Given the description of an element on the screen output the (x, y) to click on. 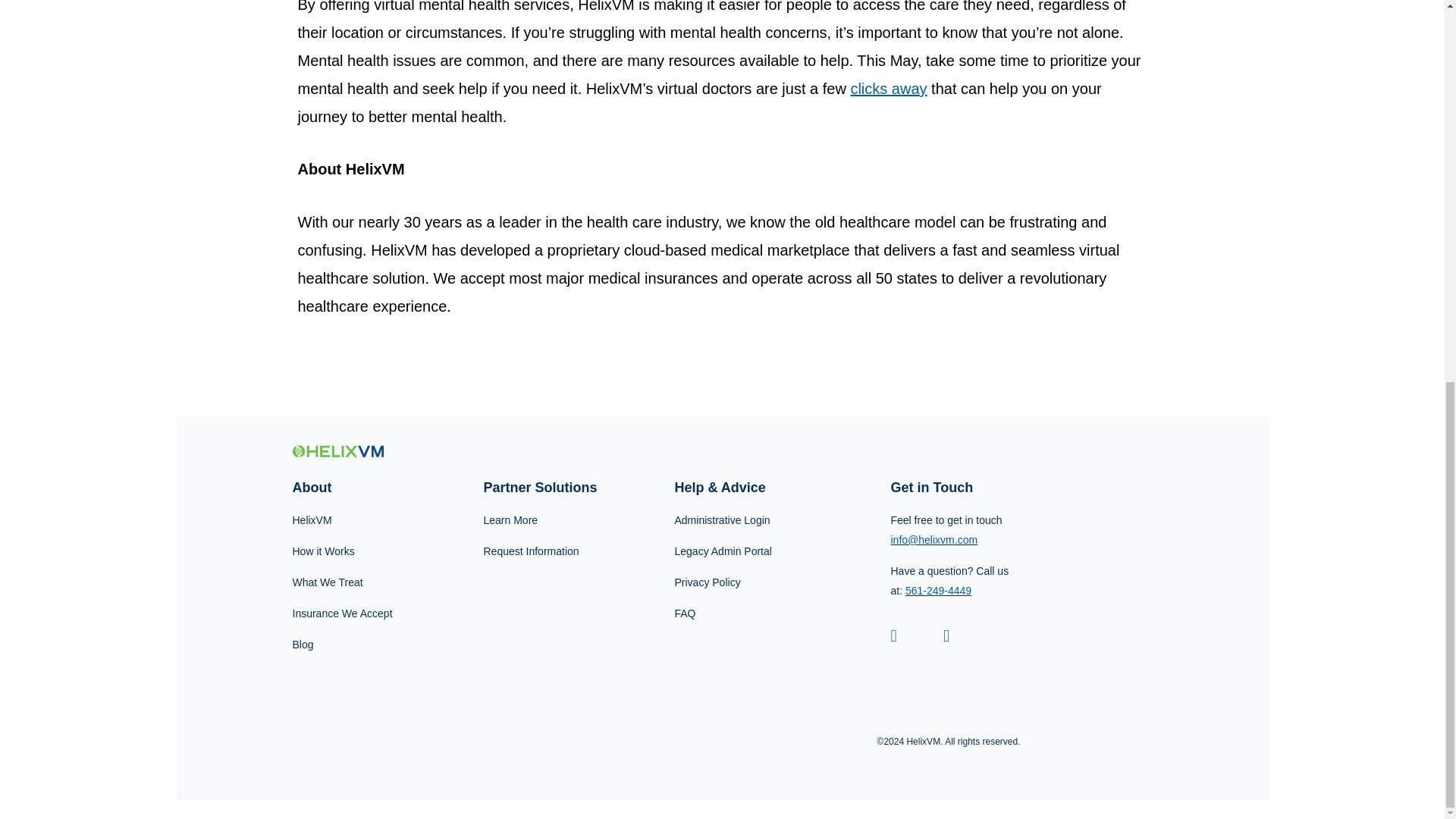
HelixVM (349, 520)
What We Treat (349, 582)
clicks away (888, 88)
How it Works (349, 551)
